Given the description of an element on the screen output the (x, y) to click on. 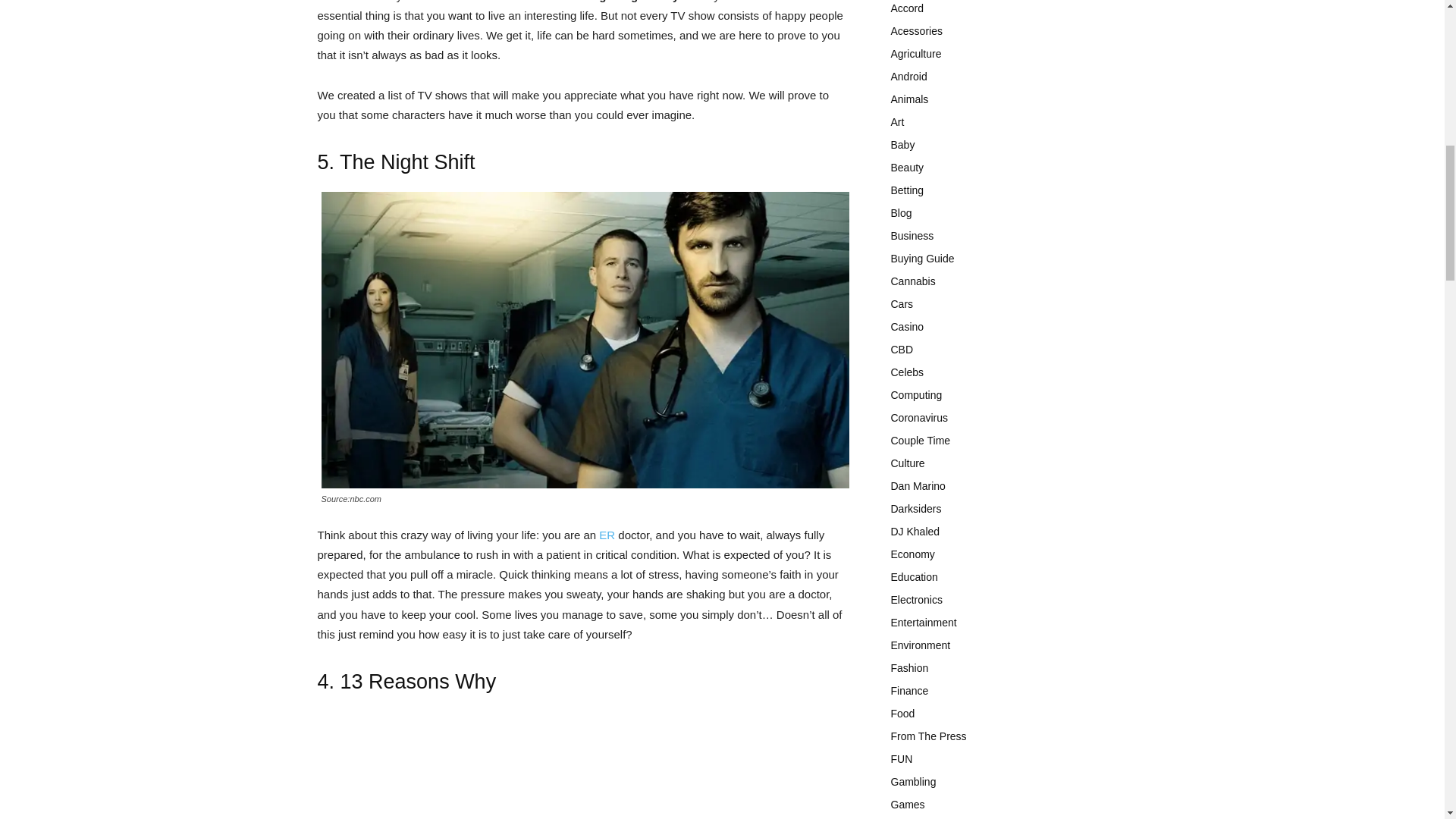
ER (606, 534)
The Night Shift (407, 161)
13 Reasons Why (418, 681)
